Given the description of an element on the screen output the (x, y) to click on. 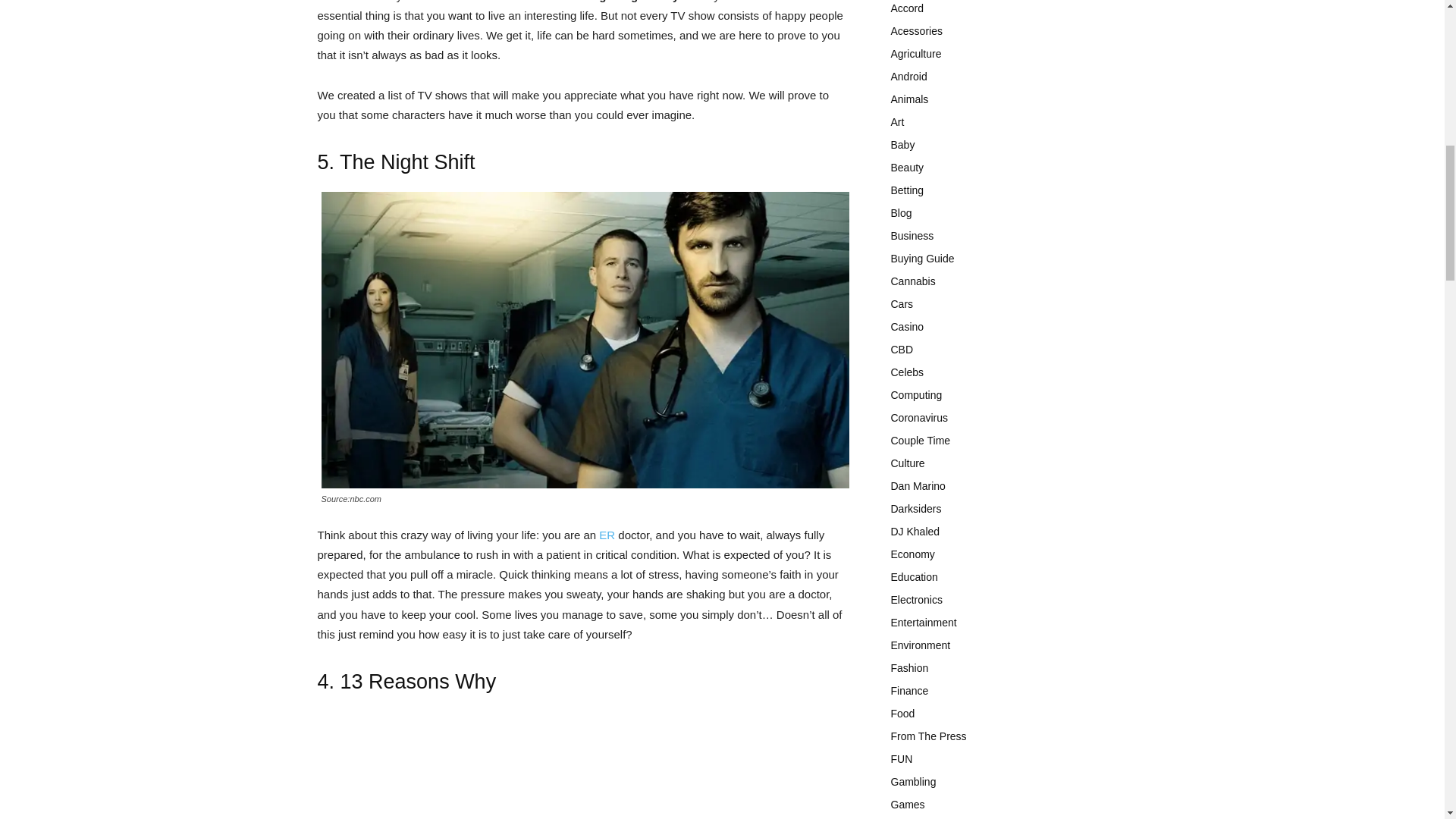
ER (606, 534)
The Night Shift (407, 161)
13 Reasons Why (418, 681)
